Given the description of an element on the screen output the (x, y) to click on. 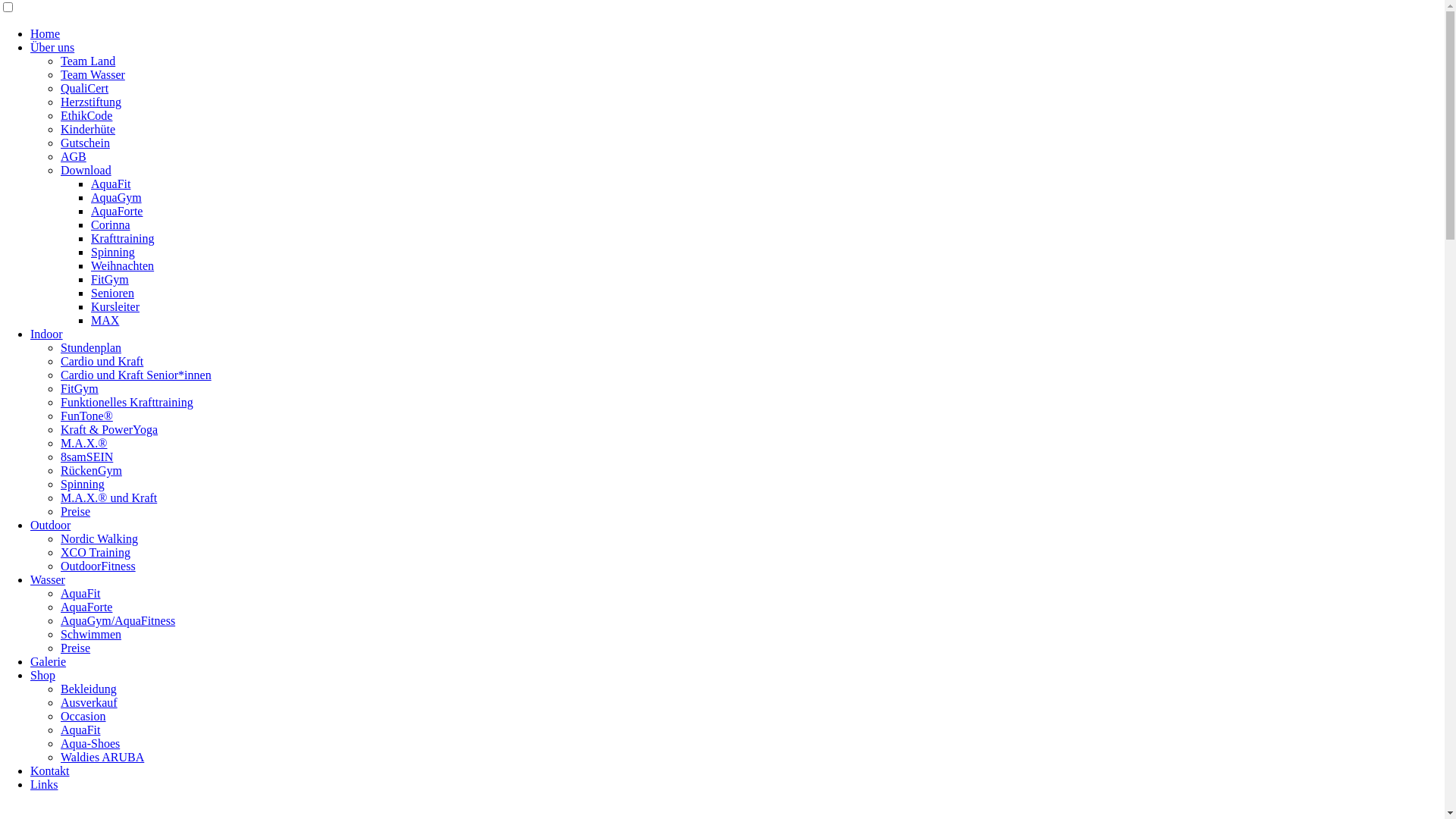
FitGym Element type: text (109, 279)
XCO Training Element type: text (95, 552)
Links Element type: text (43, 784)
Nordic Walking Element type: text (99, 538)
Schwimmen Element type: text (90, 633)
Funktionelles Krafttraining Element type: text (126, 401)
Kursleiter Element type: text (115, 306)
Cardio und Kraft Element type: text (101, 360)
Gutschein Element type: text (84, 142)
Aqua-Shoes Element type: text (89, 743)
AquaForte Element type: text (86, 606)
Outdoor Element type: text (50, 524)
Krafttraining Element type: text (122, 238)
OutdoorFitness Element type: text (97, 565)
Herzstiftung Element type: text (90, 101)
Spinning Element type: text (112, 251)
Preise Element type: text (75, 647)
8samSEIN Element type: text (86, 456)
AquaFit Element type: text (80, 729)
AquaGym Element type: text (116, 197)
Shop Element type: text (42, 674)
Team Land Element type: text (87, 60)
Home Element type: text (44, 33)
FitGym Element type: text (79, 388)
Corinna Element type: text (110, 224)
Galerie Element type: text (47, 661)
Senioren Element type: text (112, 292)
Preise Element type: text (75, 511)
Kontakt Element type: text (49, 770)
AquaForte Element type: text (116, 210)
Waldies ARUBA Element type: text (102, 756)
Kraft & PowerYoga Element type: text (108, 429)
Spinning Element type: text (82, 483)
Indoor Element type: text (46, 333)
AquaFit Element type: text (110, 183)
Download Element type: text (85, 169)
MAX Element type: text (105, 319)
AquaFit Element type: text (80, 592)
EthikCode Element type: text (86, 115)
Wasser Element type: text (47, 579)
AquaGym/AquaFitness Element type: text (117, 620)
Stundenplan Element type: text (90, 347)
QualiCert Element type: text (84, 87)
Team Wasser Element type: text (92, 74)
Cardio und Kraft Senior*innen Element type: text (135, 374)
Ausverkauf Element type: text (88, 702)
Occasion Element type: text (83, 715)
AGB Element type: text (73, 156)
Bekleidung Element type: text (88, 688)
Weihnachten Element type: text (122, 265)
